Given the description of an element on the screen output the (x, y) to click on. 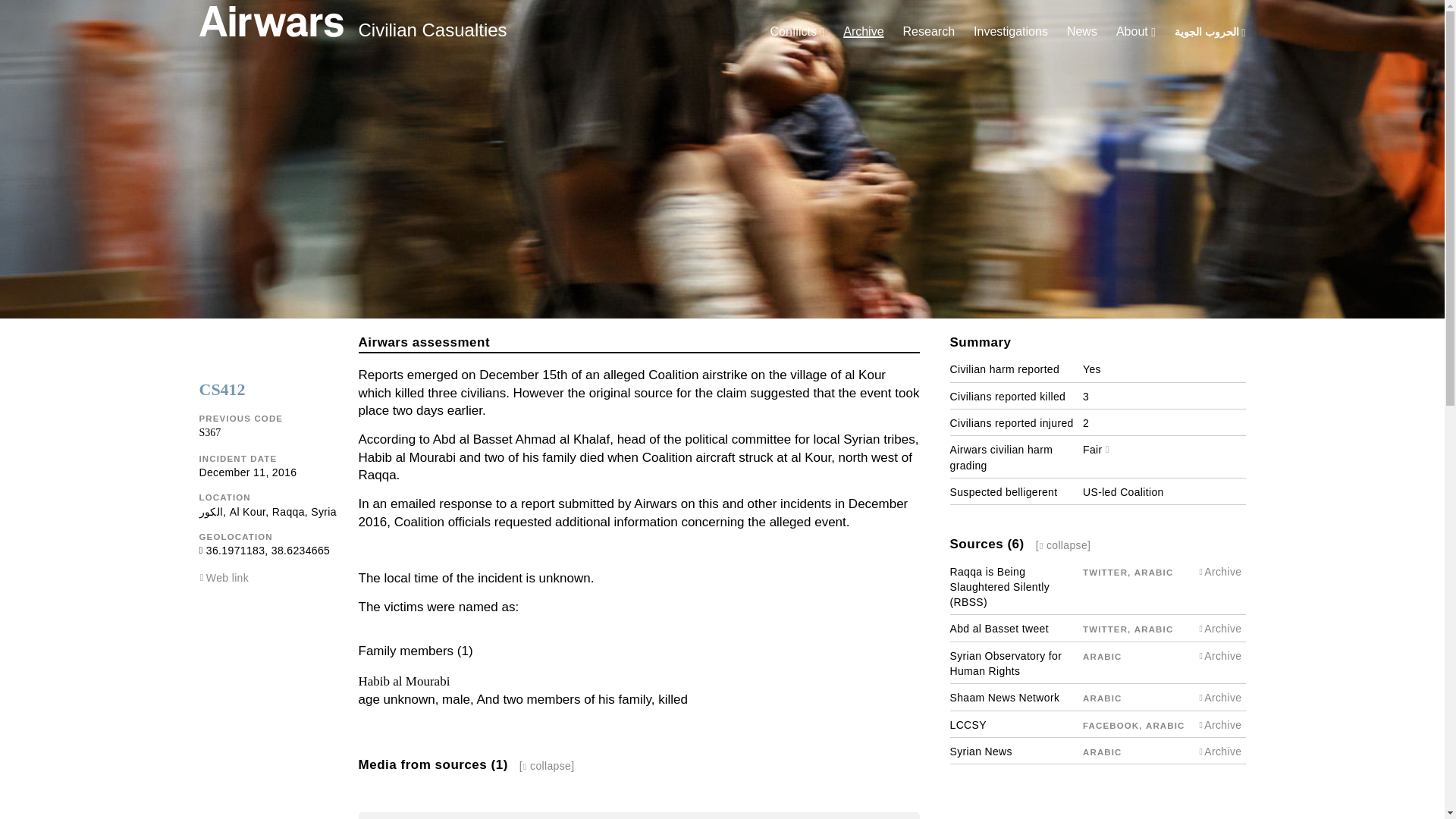
News (1082, 31)
Investigations (1011, 31)
Archive (863, 31)
Research (928, 31)
Web link (227, 577)
